Given the description of an element on the screen output the (x, y) to click on. 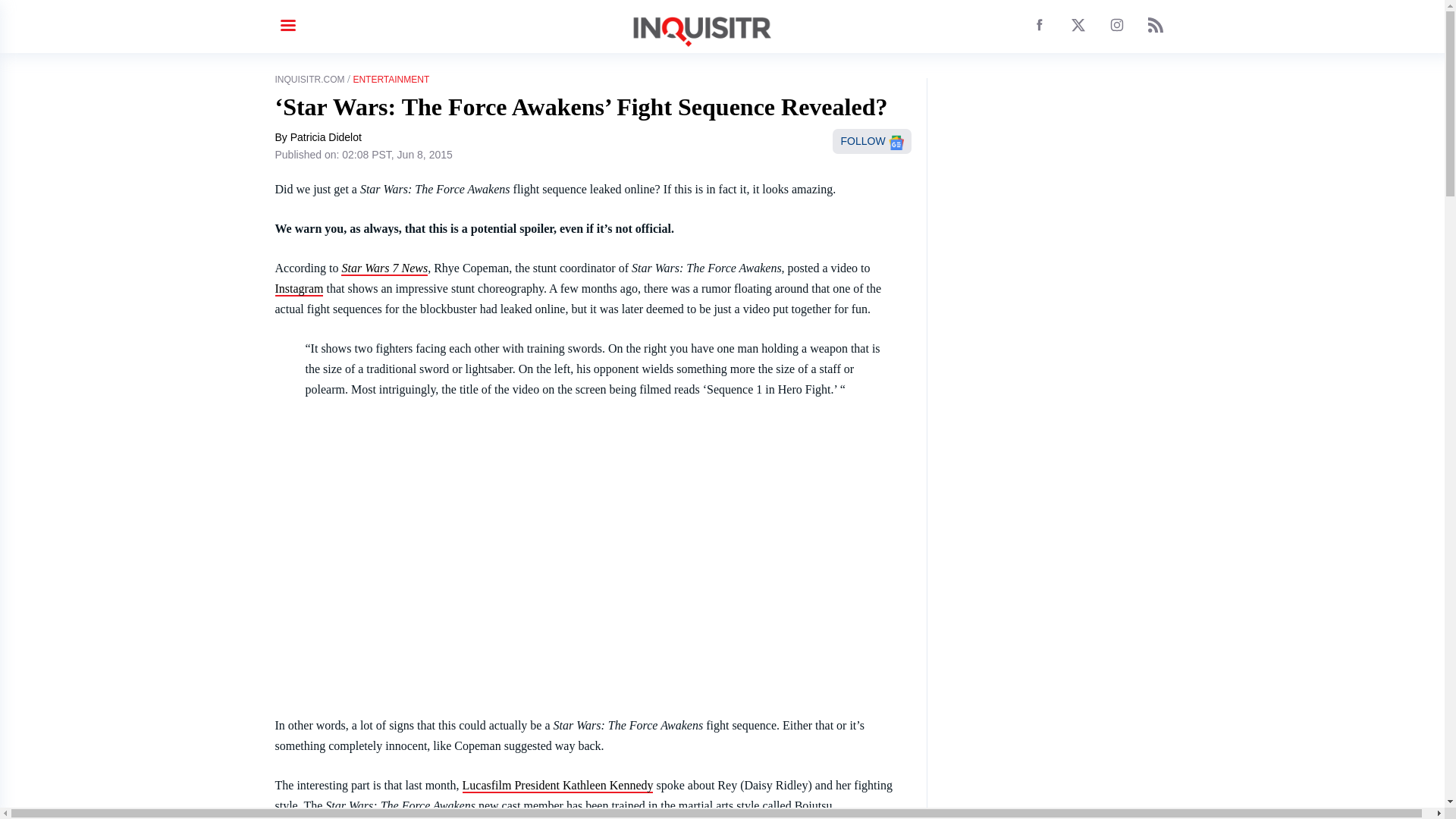
ENTERTAINMENT (390, 79)
INQUISITR.COM (309, 79)
